Given the description of an element on the screen output the (x, y) to click on. 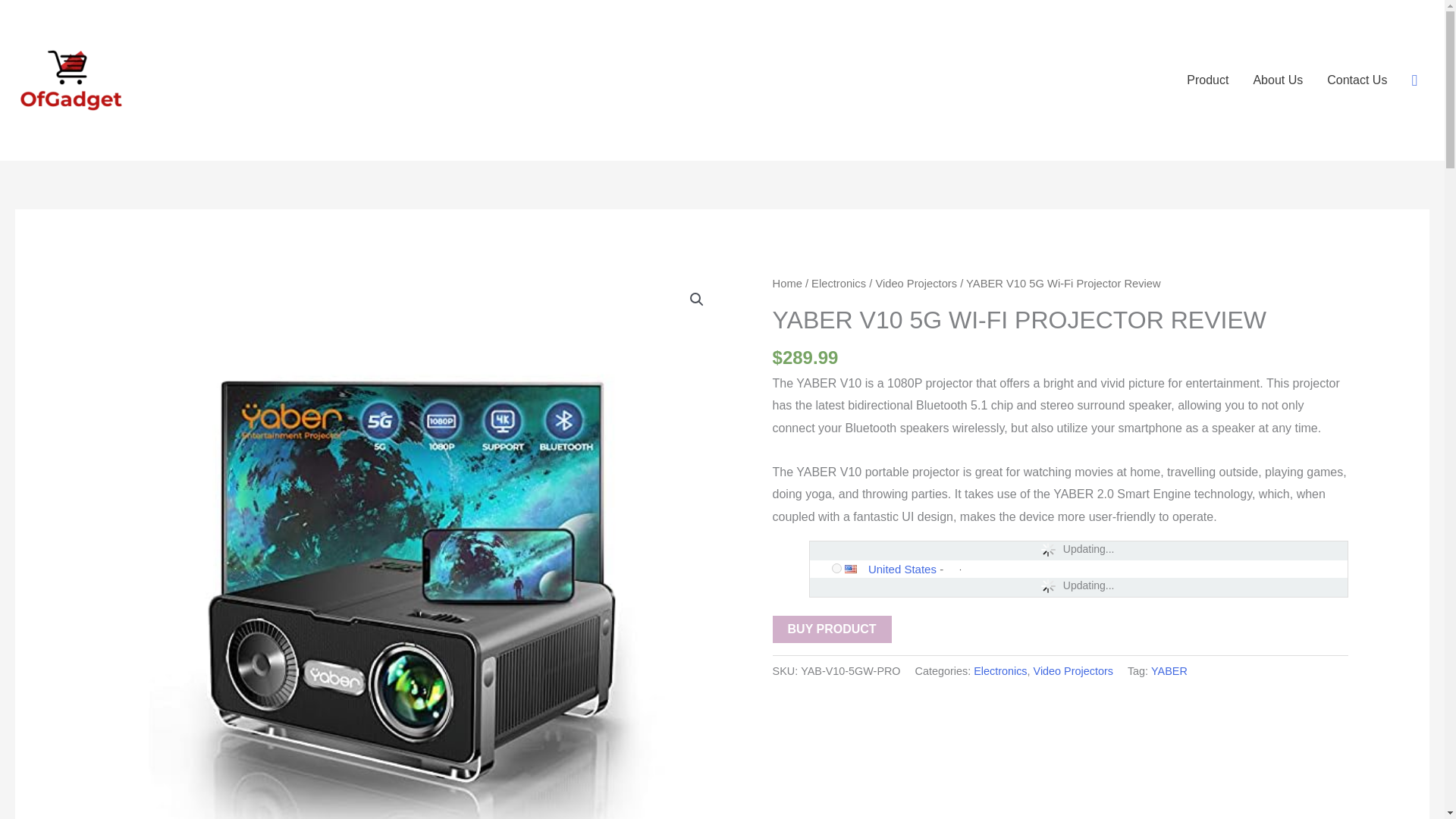
Electronics (838, 283)
BUY PRODUCT (832, 628)
Electronics (1000, 671)
on (836, 568)
Home (787, 283)
Contact Us (1356, 80)
United States (901, 568)
About Us (1277, 80)
United States (855, 568)
